Given the description of an element on the screen output the (x, y) to click on. 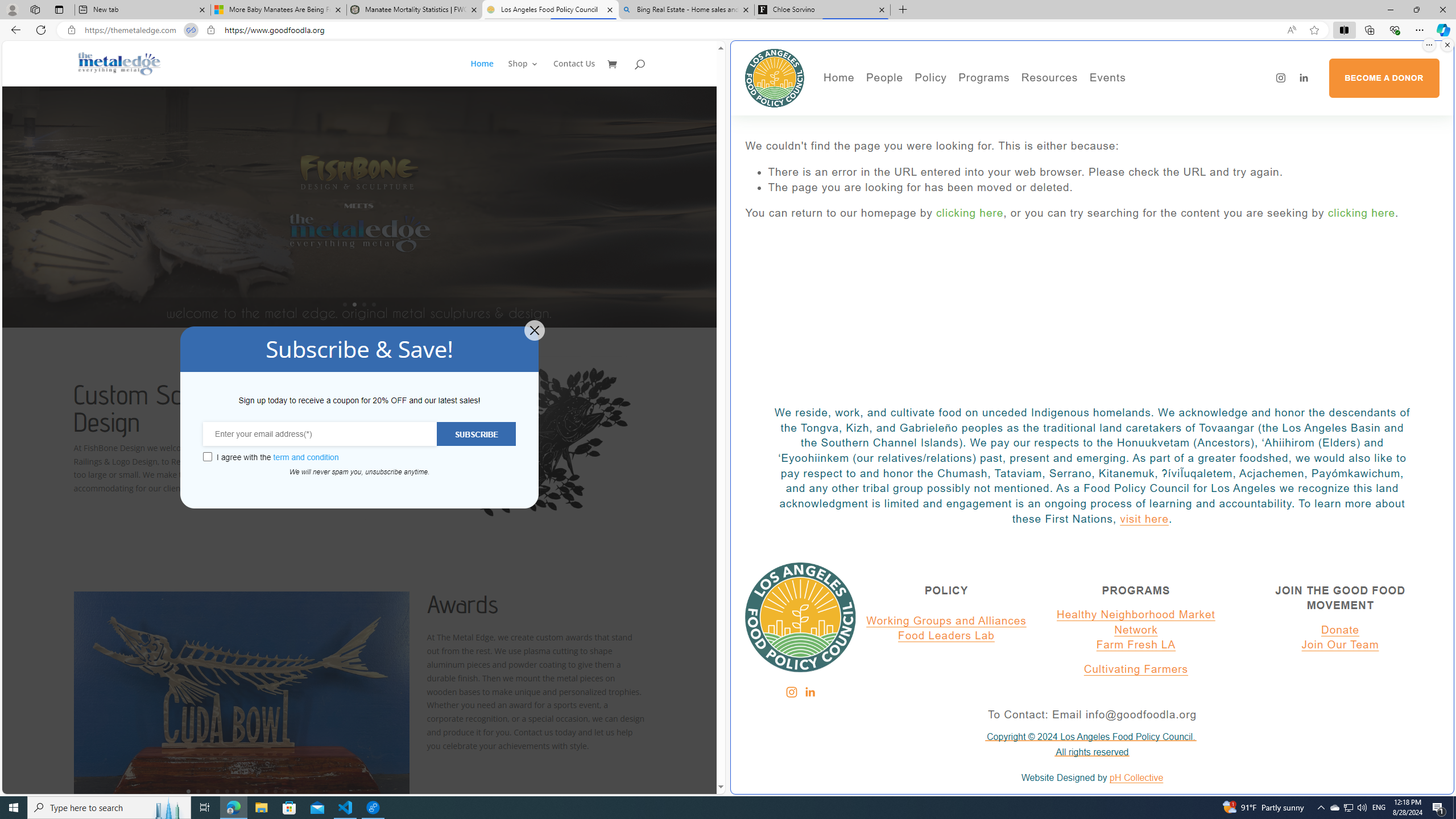
7 (246, 790)
8 (255, 790)
Working Groups and Alliances (946, 620)
Metal Fish Sculptures & Metal Designs (119, 63)
term and condition (306, 456)
6 (236, 790)
SoCal Impact Food Fund (1093, 116)
10 (275, 790)
Join Our Team (1339, 645)
Cultivating Farmers (1015, 132)
LinkedIn (809, 692)
